Given the description of an element on the screen output the (x, y) to click on. 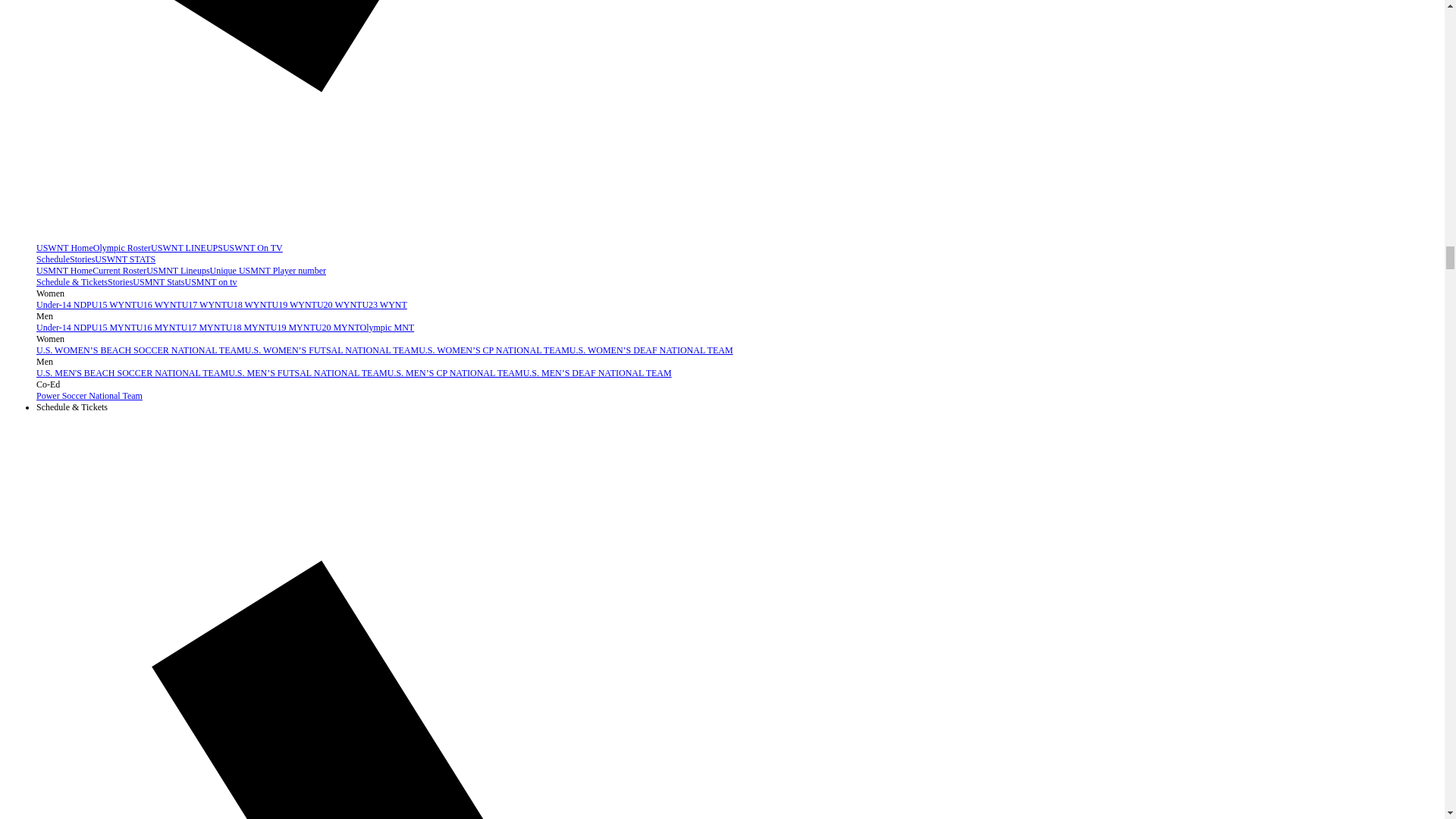
U15 MYNT (113, 327)
Stories (81, 258)
USMNT Home (64, 270)
U23 WYNT (383, 304)
U17 MYNT (202, 327)
U17 WYNT (204, 304)
USMNT Stats (158, 281)
USWNT Home (64, 247)
Schedule (52, 258)
Under-14 NDP (63, 327)
Stories (119, 281)
U18 WYNT (248, 304)
Under-14 NDP (63, 304)
U16 WYNT (158, 304)
Olympic Roster (122, 247)
